Given the description of an element on the screen output the (x, y) to click on. 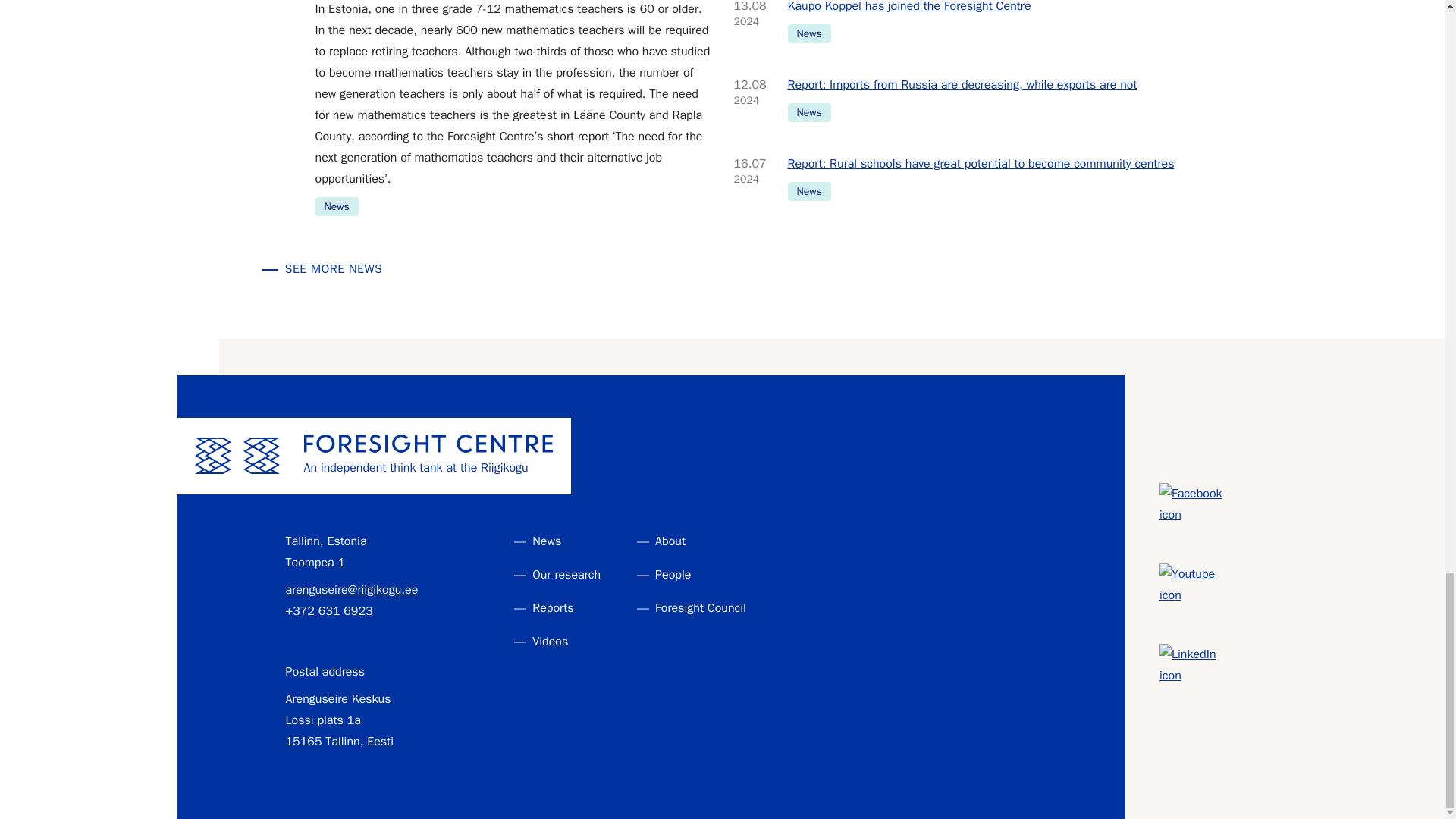
Kaupo Koppel has joined the Foresight Centre (984, 8)
News (808, 112)
News (336, 206)
News (808, 33)
